Given the description of an element on the screen output the (x, y) to click on. 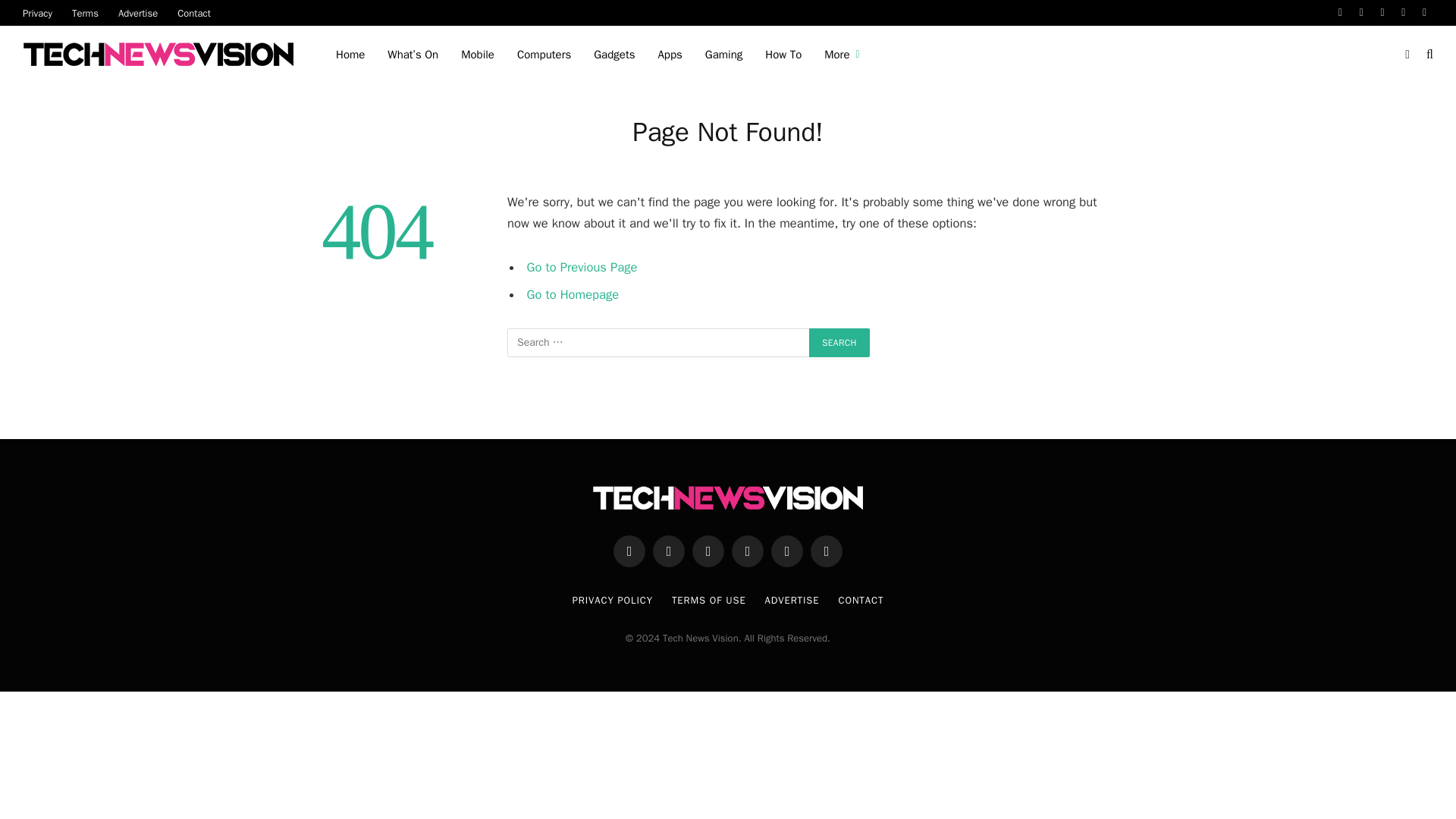
Contact (194, 12)
Computers (543, 54)
Tech News Vision (160, 54)
Gadgets (614, 54)
Terms (84, 12)
Privacy (37, 12)
Switch to Dark Design - easier on eyes. (1406, 54)
Advertise (137, 12)
Mobile (477, 54)
Search (839, 342)
Search (839, 342)
Home (349, 54)
